Given the description of an element on the screen output the (x, y) to click on. 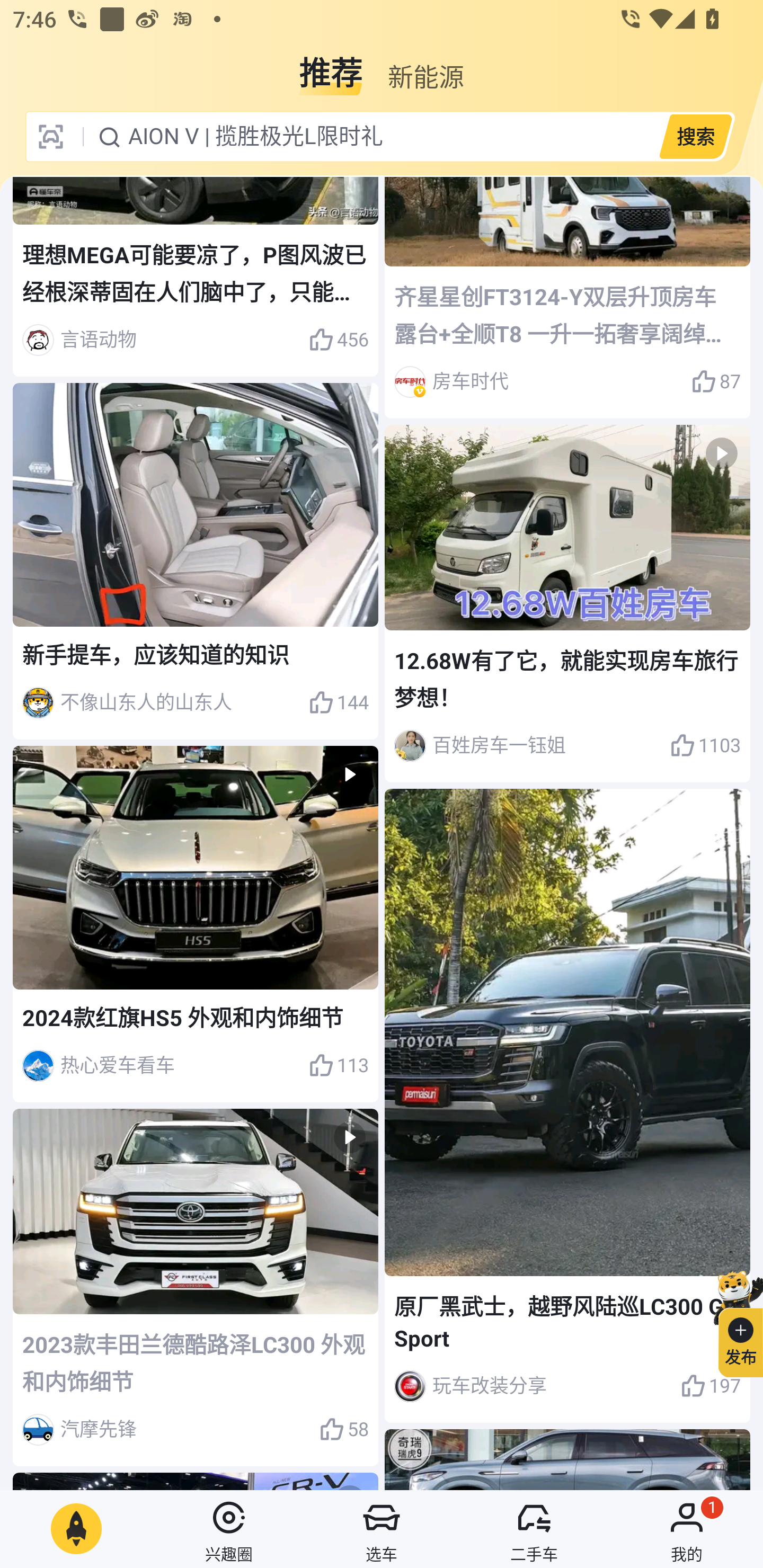
推荐 (330, 65)
新能源 (425, 65)
搜索 (695, 136)
齐星星创FT3124-Y双层升顶房车 露台+全顺T8 一升一拓奢享阔绰空间 房车时代 87 (567, 297)
456 (338, 339)
87 (715, 381)
新手提车，应该知道的知识 不像山东人的山东人 144 (195, 561)
 12.68W有了它，就能实现房车旅行梦想！ 百姓房车一钰姐 1103 (567, 603)
144 (338, 702)
1103 (704, 745)
 2024款红旗HS5 外观和内饰细节 热心爱车看车 113 (195, 924)
原厂黑武士，越野风陆巡LC300 GR Sport 玩车改装分享 197 (567, 1105)
113 (338, 1065)
 2023款丰田兰德酷路泽LC300 外观和内饰细节 汽摩先锋 58 (195, 1287)
发布 (732, 1321)
197 (710, 1385)
58 (343, 1429)
 兴趣圈 (228, 1528)
 选车 (381, 1528)
 二手车 (533, 1528)
 我的 (686, 1528)
